Given the description of an element on the screen output the (x, y) to click on. 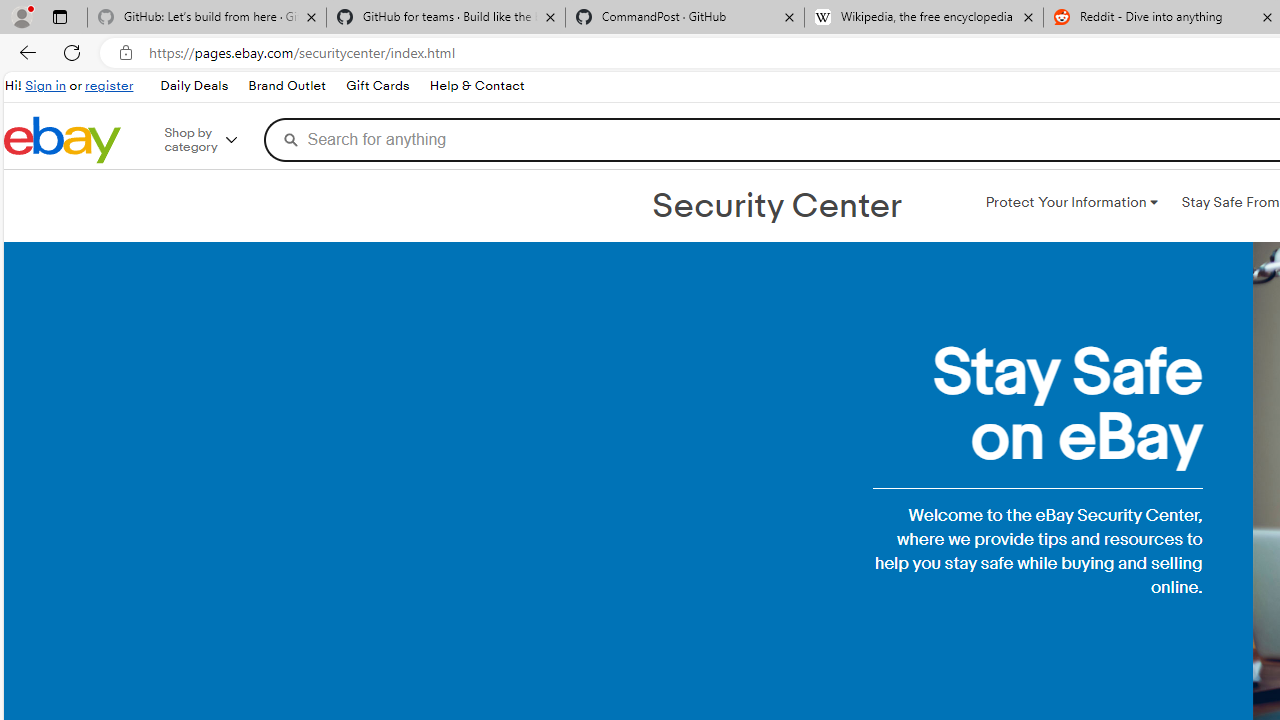
Daily Deals (193, 85)
Brand Outlet (287, 86)
Protect Your Information  (1071, 202)
Help & Contact (476, 86)
Help & Contact (475, 85)
